Given the description of an element on the screen output the (x, y) to click on. 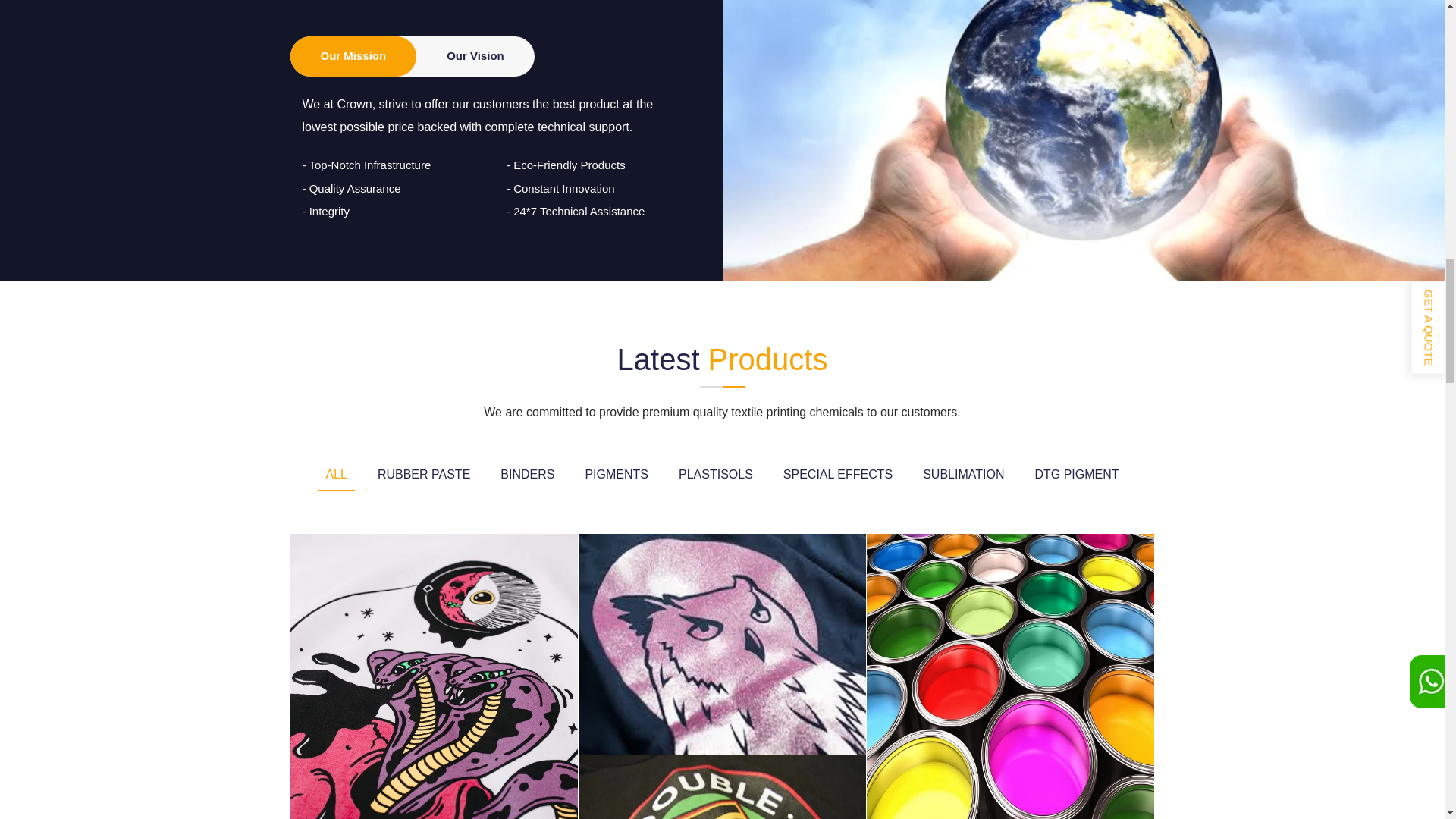
PLASTISOLS (715, 475)
Our Mission (352, 56)
Our Vision (475, 56)
BINDERS (527, 475)
DTG PIGMENT (1075, 475)
ALL (335, 475)
SPECIAL EFFECTS (837, 475)
PIGMENTS (616, 475)
RUBBER PASTE (423, 475)
SUBLIMATION (963, 475)
